Given the description of an element on the screen output the (x, y) to click on. 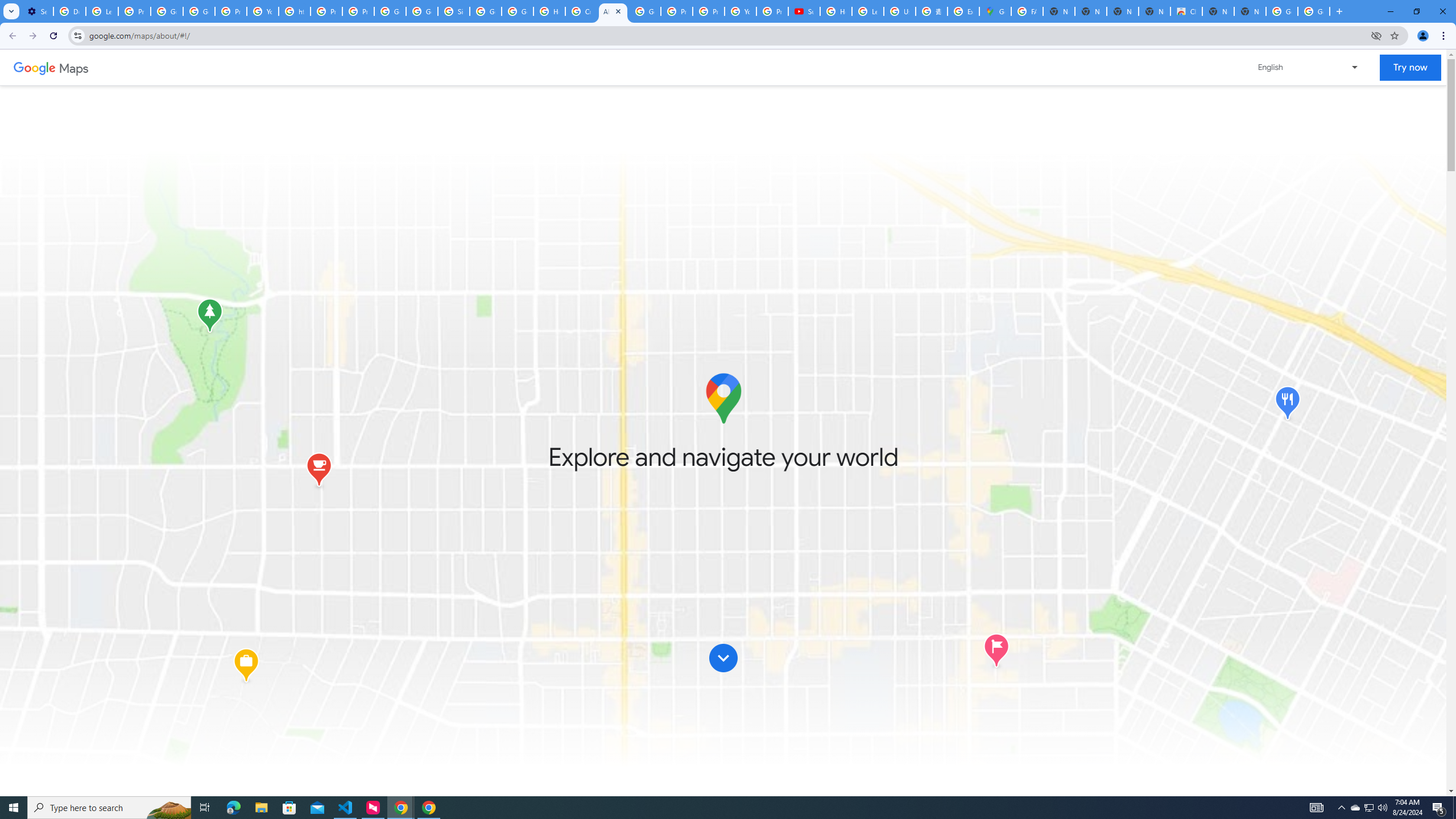
Privacy Help Center - Policies Help (708, 11)
YouTube (740, 11)
Google Maps logo (722, 398)
Settings - Performance (37, 11)
New Tab (1249, 11)
